Given the description of an element on the screen output the (x, y) to click on. 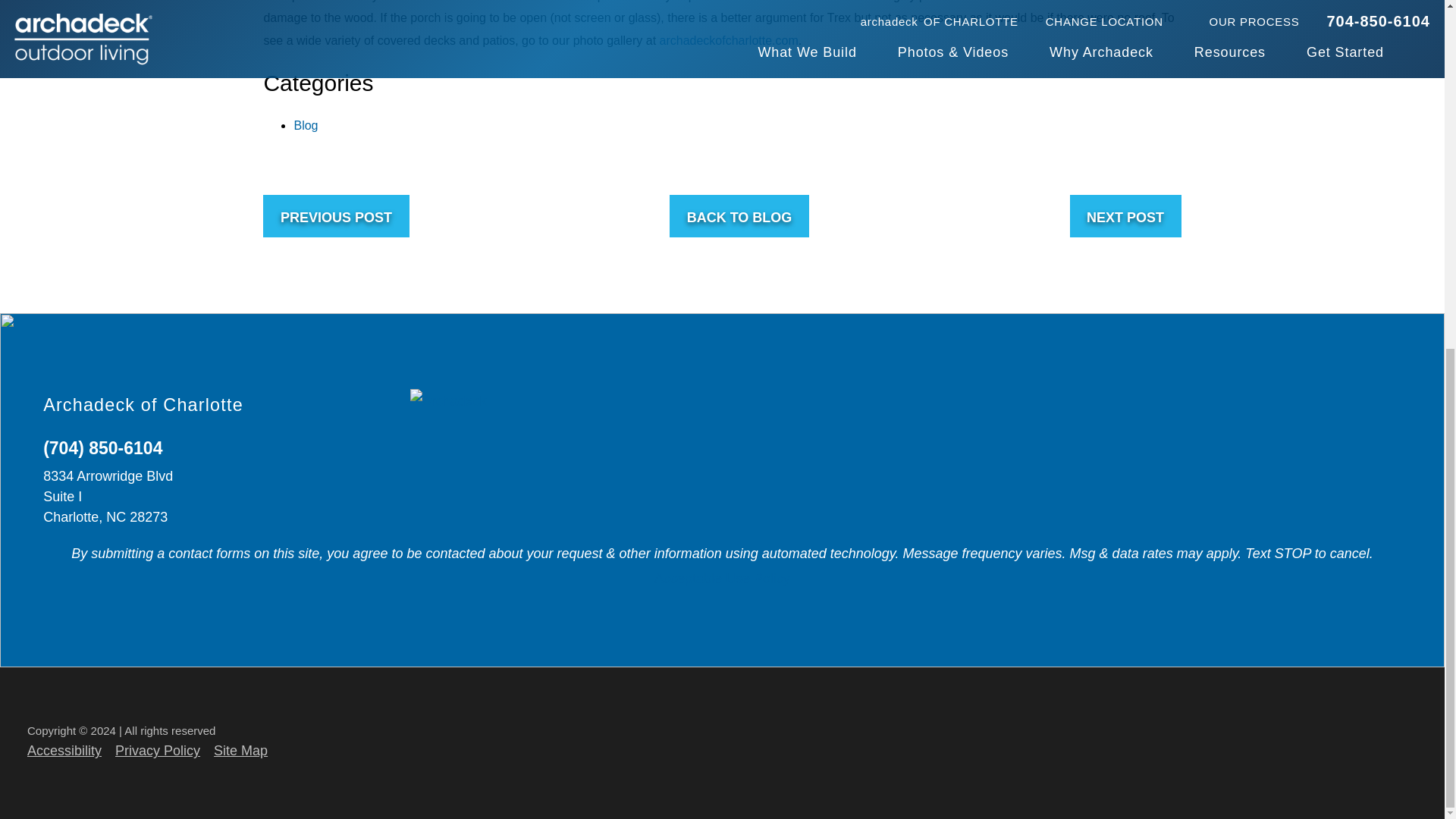
Pinterest (1289, 443)
Google My Business (1328, 407)
Facebook (1215, 407)
Porch (1253, 479)
BBB (1289, 479)
Instagram (1328, 479)
Houzz (1215, 443)
Yelp (1253, 443)
Angie's List (1328, 443)
LinkedIn (1253, 407)
